Given the description of an element on the screen output the (x, y) to click on. 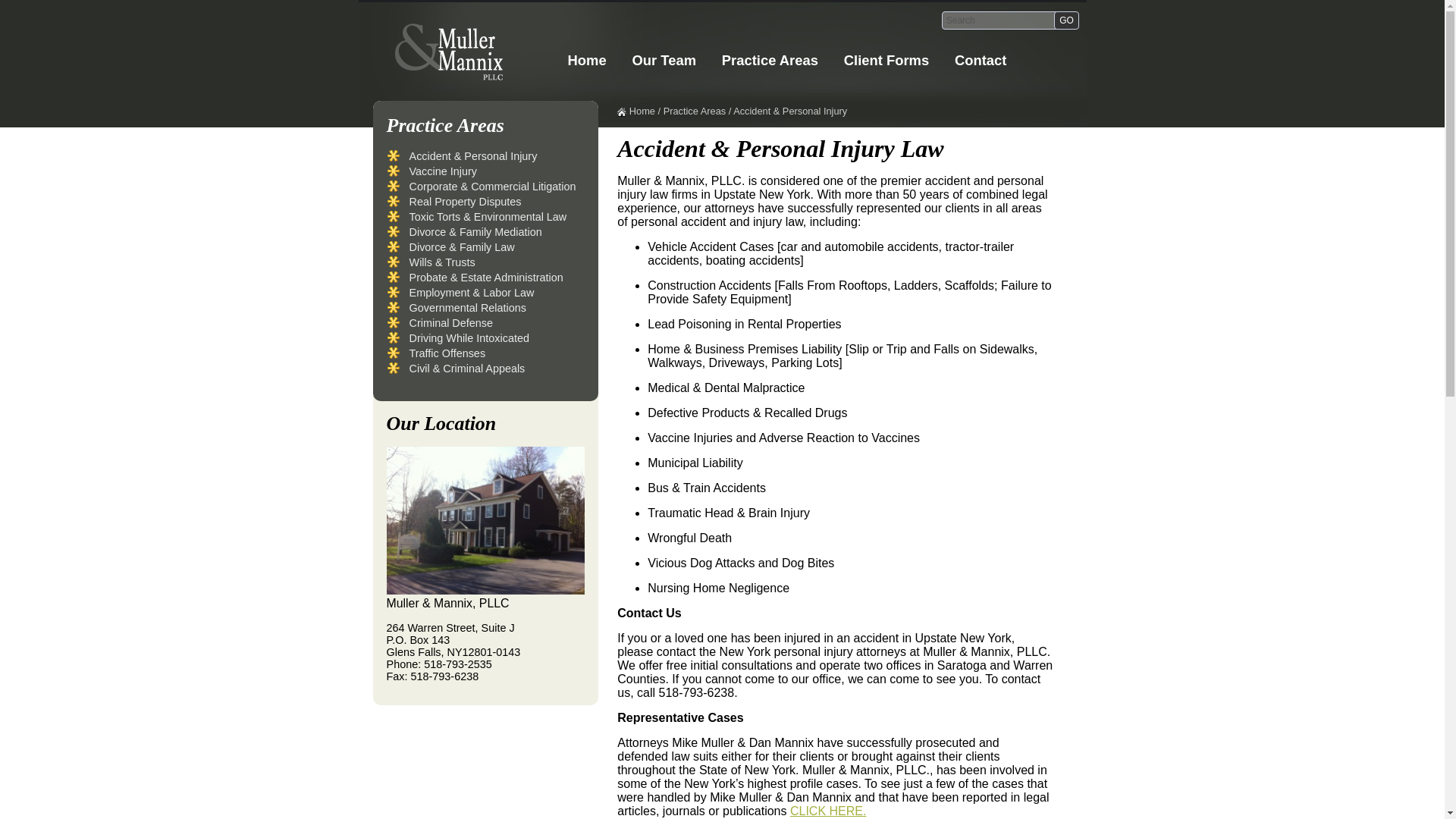
GO (1066, 20)
Practice Areas (770, 60)
Client Forms (886, 60)
Home (587, 60)
Our Team (664, 60)
Search (1000, 20)
Search (1000, 20)
Contact (980, 60)
